Given the description of an element on the screen output the (x, y) to click on. 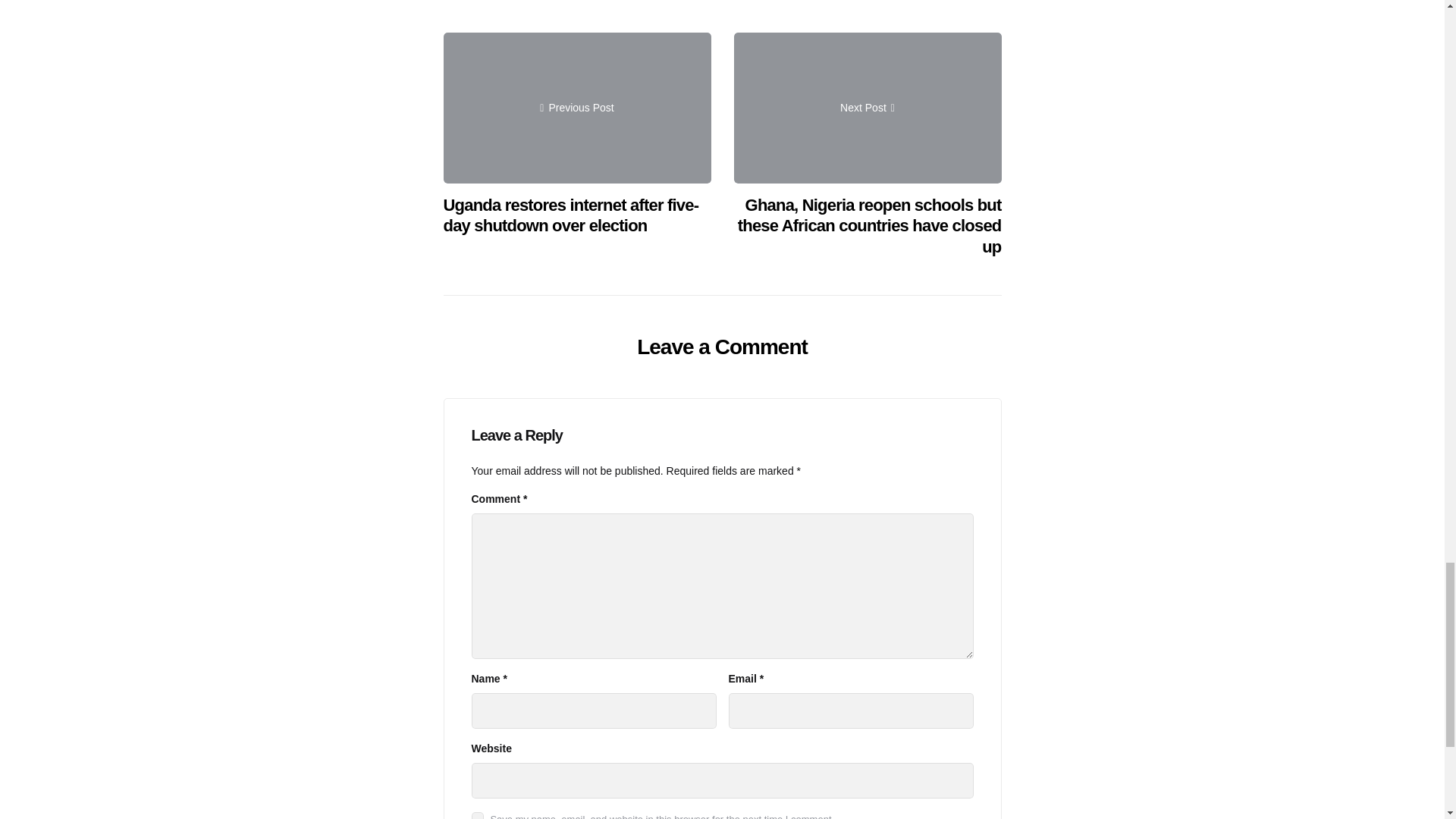
yes (477, 815)
